Given the description of an element on the screen output the (x, y) to click on. 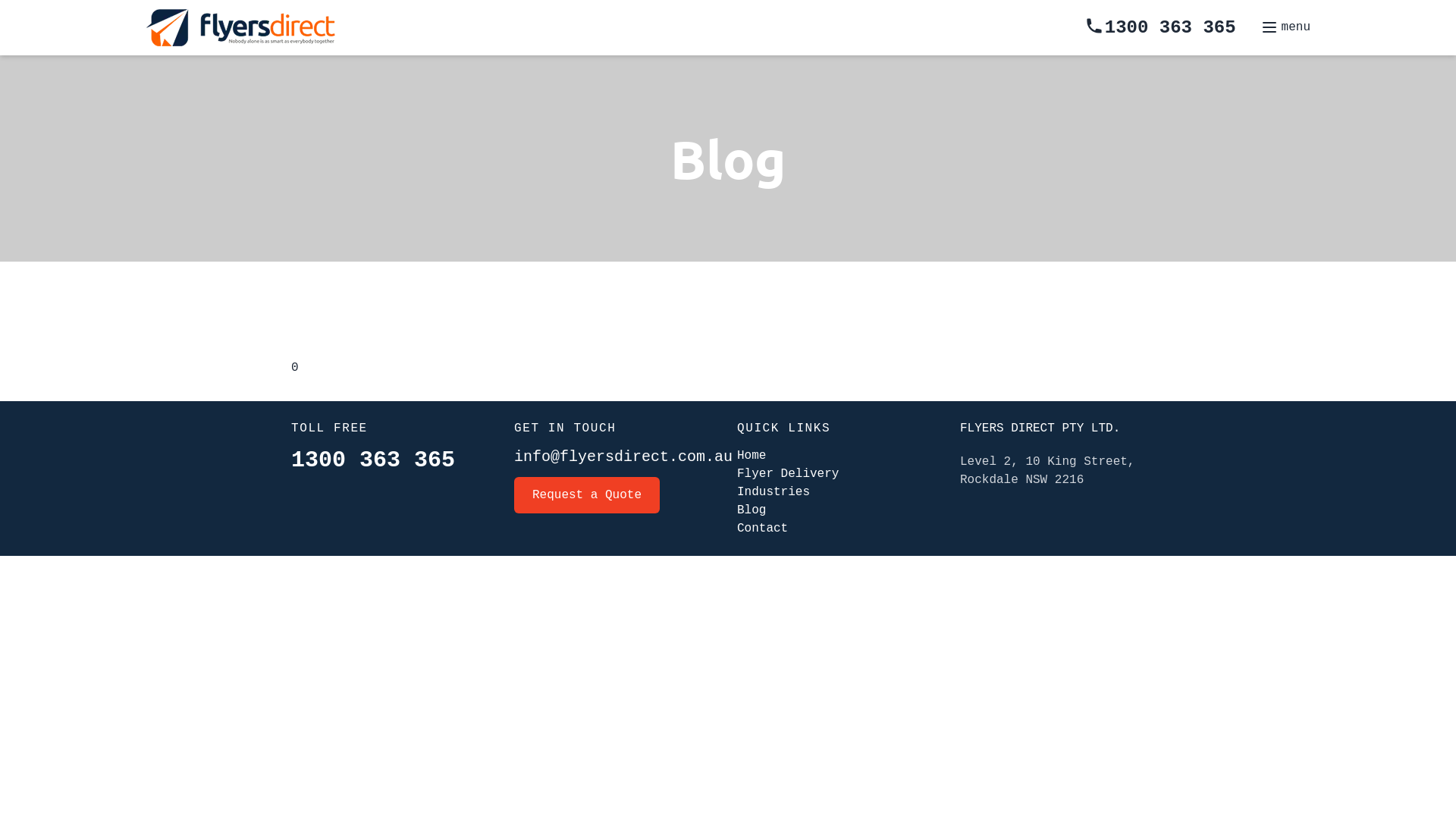
Flyer Delivery Element type: text (784, 420)
Industries Element type: text (773, 491)
info@flyersdirect.com.au Element type: text (623, 456)
Home Element type: text (752, 420)
menu Element type: text (1285, 27)
AVAIL NOW Element type: text (787, 427)
Contact Element type: text (762, 528)
Request a Quote Element type: text (586, 494)
1300 363 365 Element type: text (1159, 27)
Contact Element type: text (760, 420)
Home Element type: text (751, 455)
Blog Element type: text (751, 510)
Flyer Delivery Element type: text (787, 473)
1300 363 365 Element type: text (373, 460)
Blog Element type: text (746, 420)
